Given the description of an element on the screen output the (x, y) to click on. 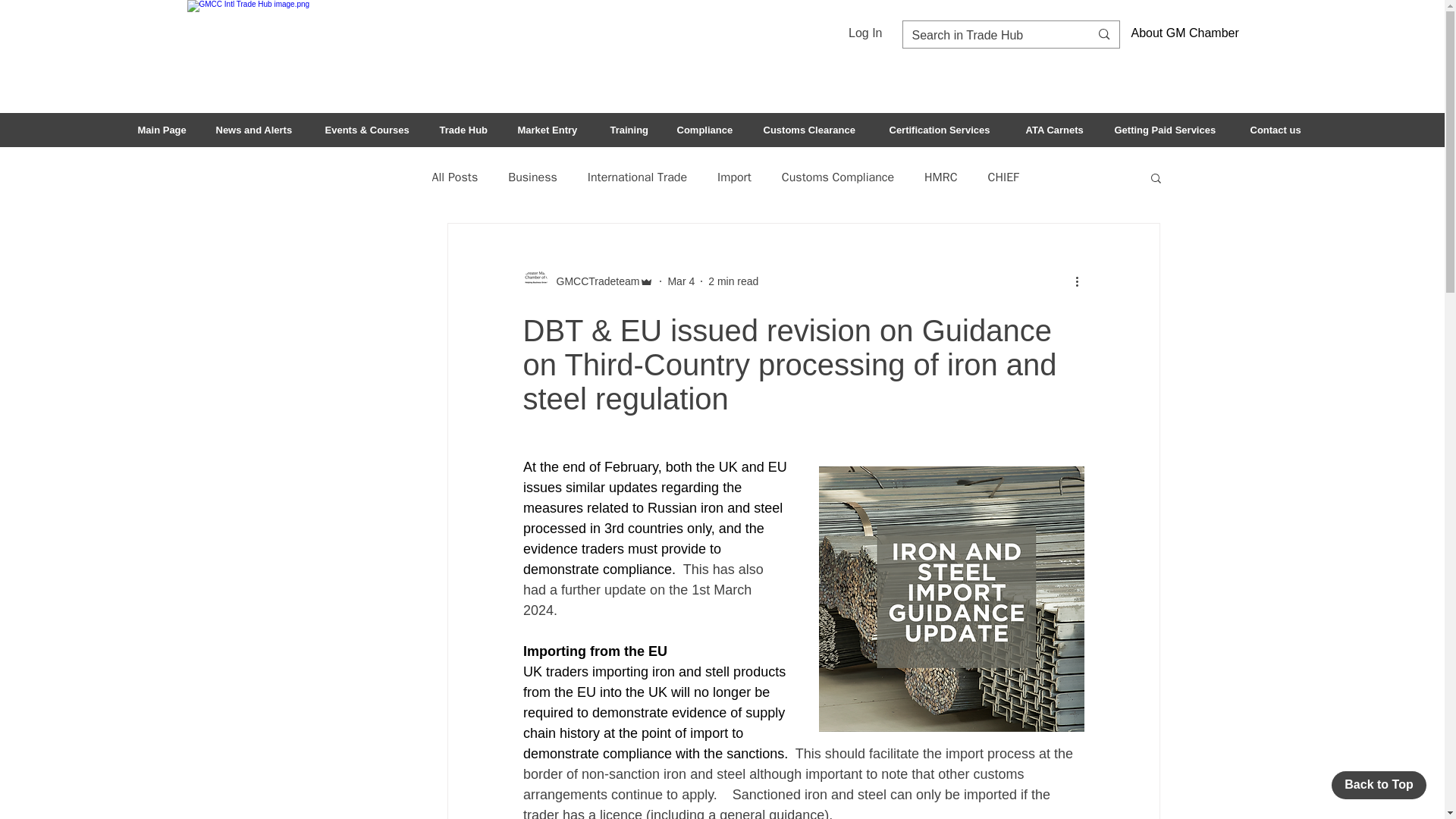
2 min read (732, 280)
Training (629, 130)
Trade Hub (466, 130)
HMRC (940, 177)
Customs Clearance (813, 130)
Mar 4 (680, 280)
Customs Compliance (837, 177)
Business (532, 177)
Log In (865, 32)
Getting Paid Services (1170, 130)
